Given the description of an element on the screen output the (x, y) to click on. 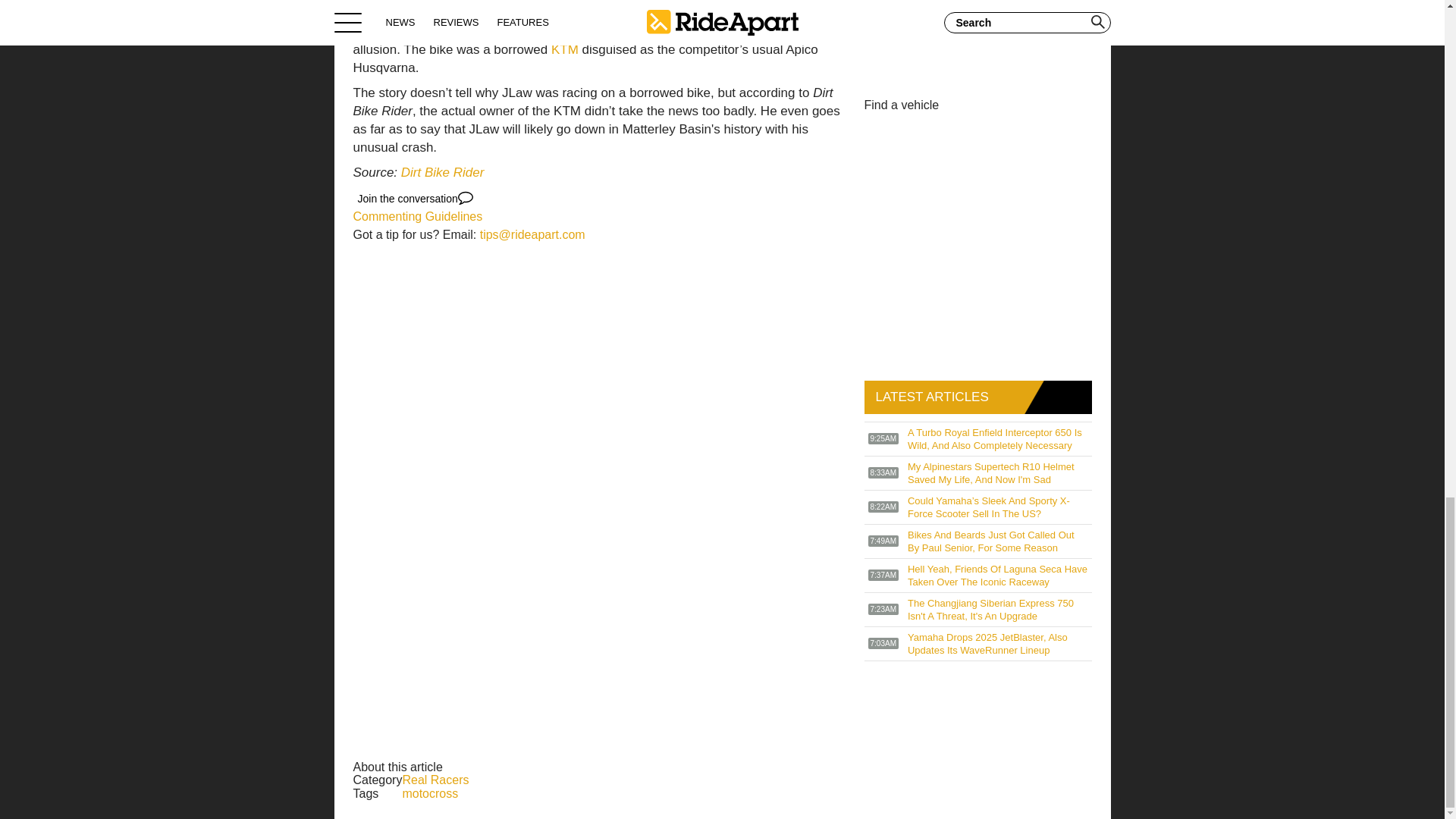
Join the conversation (415, 198)
Dirt Bike Rider (442, 172)
KTM (564, 49)
Commenting Guidelines (418, 215)
